Given the description of an element on the screen output the (x, y) to click on. 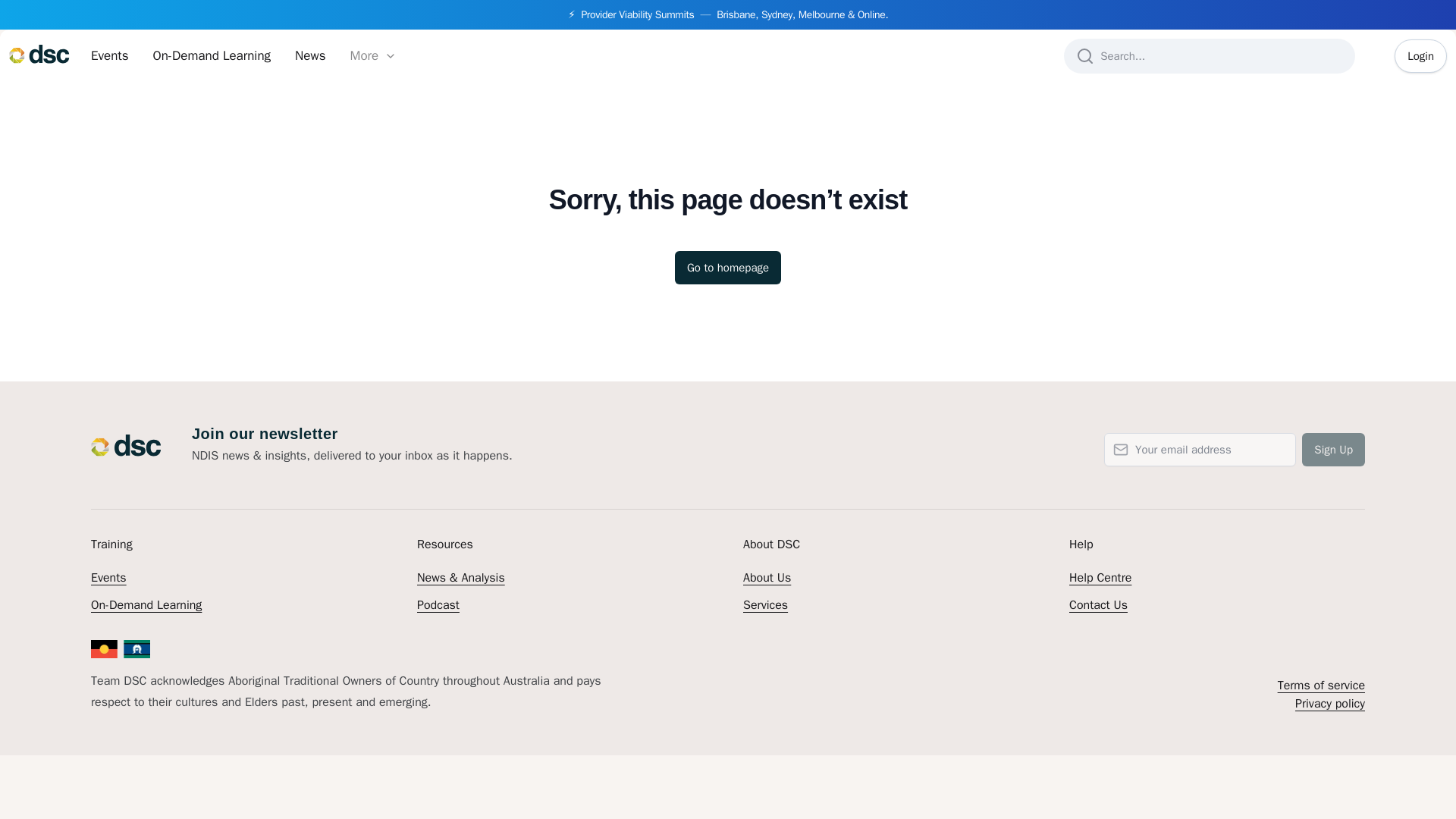
Events (109, 55)
Events (109, 55)
Search... (1209, 55)
Help Centre (1099, 577)
Team DSC (38, 56)
Podcast (438, 604)
Contact Us (1097, 604)
News (309, 55)
On-Demand Learning (146, 604)
Team DSC (125, 445)
